Given the description of an element on the screen output the (x, y) to click on. 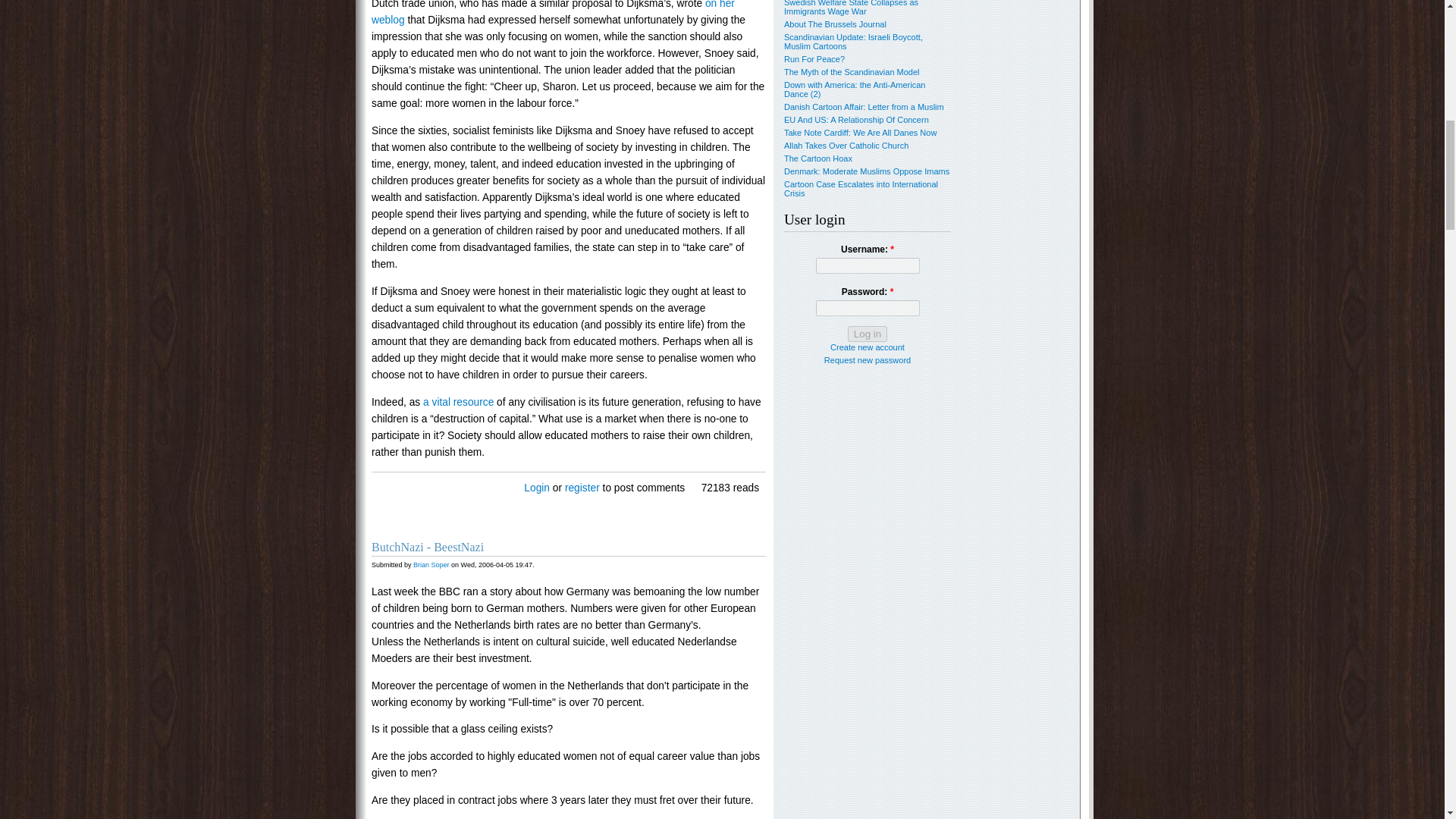
on her weblog (553, 12)
ButchNazi - BeestNazi (427, 546)
Request new password via e-mail. (867, 359)
Login (537, 487)
a vital resource (458, 401)
Log in (866, 333)
Create a new user account. (866, 347)
Brian Soper (431, 564)
register (581, 487)
